Given the description of an element on the screen output the (x, y) to click on. 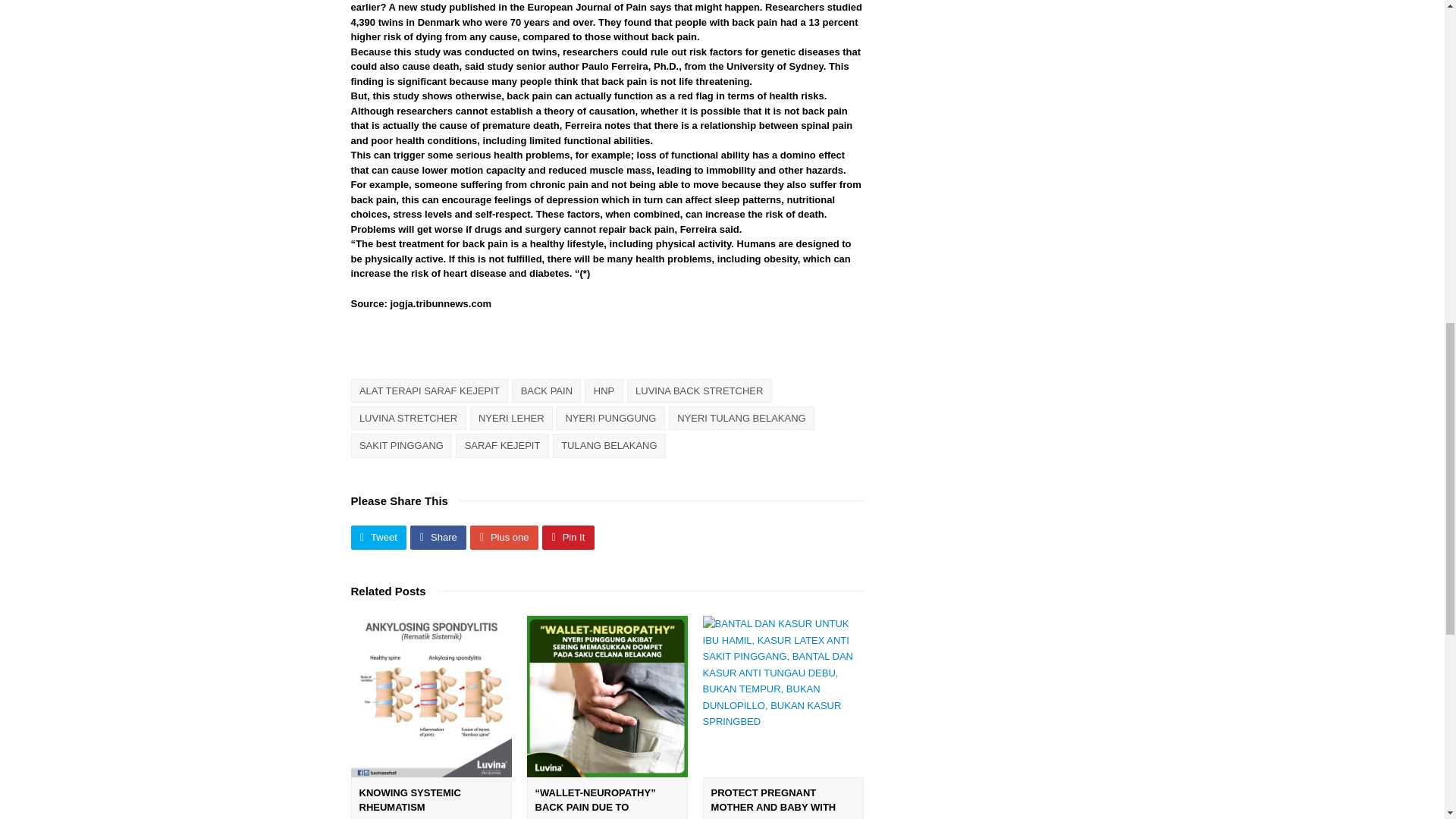
HNP (604, 390)
NYERI TULANG BELAKANG (740, 417)
Share on Facebook (437, 536)
Tweet (378, 536)
KNOWING SYSTEMIC RHEUMATISM (410, 800)
KNOWING SYSTEMIC RHEUMATISM (410, 800)
NYERI PUNGGUNG (610, 417)
TULANG BELAKANG (609, 445)
Plus one (504, 536)
BACK PAIN (546, 390)
SAKIT PINGGANG (400, 445)
ALAT TERAPI SARAF KEJEPIT (429, 390)
Pin It (567, 536)
Share (437, 536)
KNOWING SYSTEMIC RHEUMATISM (430, 695)
